Given the description of an element on the screen output the (x, y) to click on. 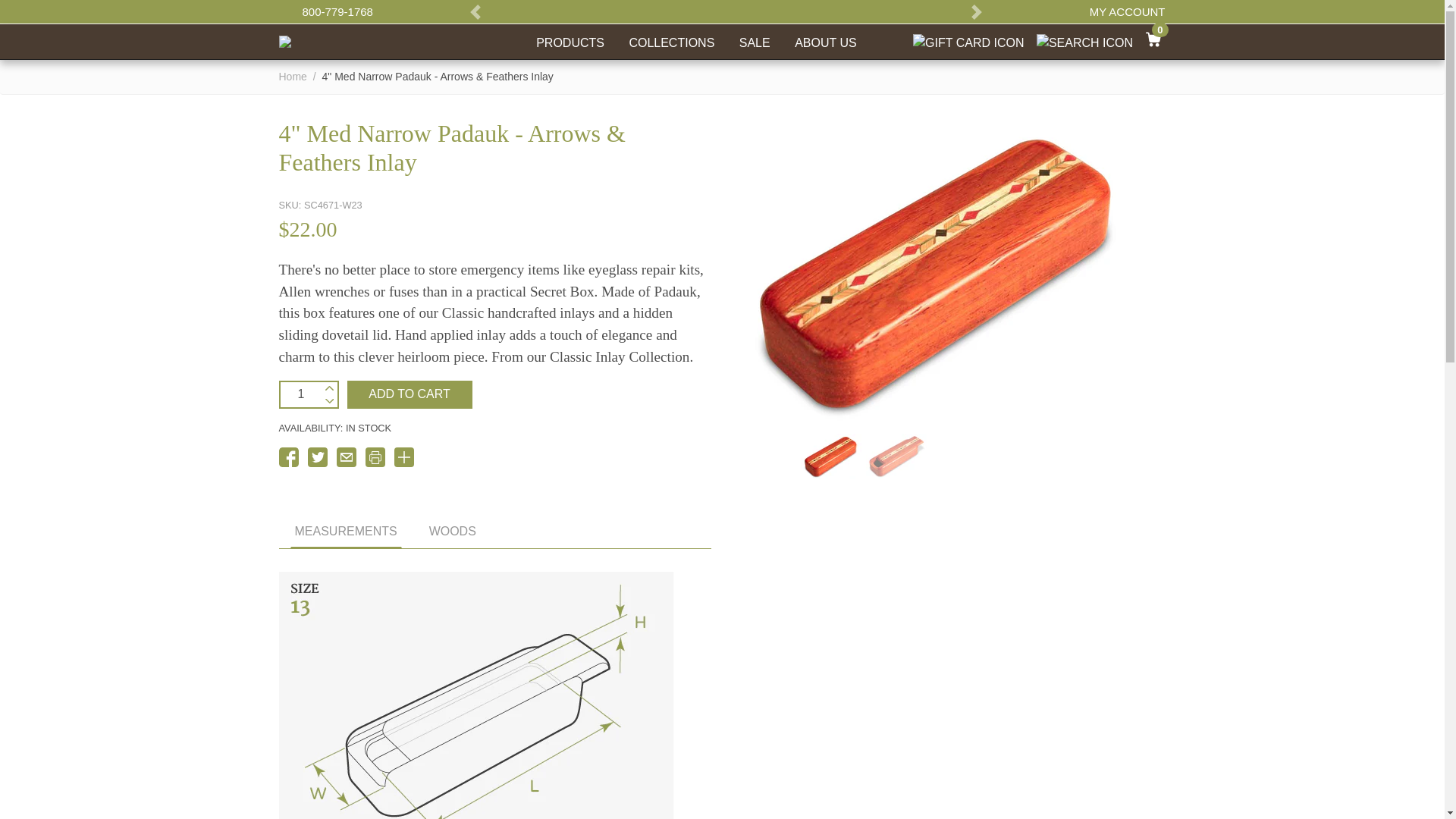
1 (301, 394)
PRODUCTS (569, 41)
800-779-1768 (337, 11)
COLLECTIONS (671, 41)
MY ACCOUNT (1115, 11)
Home (293, 76)
Go to Homepage (285, 40)
